Given the description of an element on the screen output the (x, y) to click on. 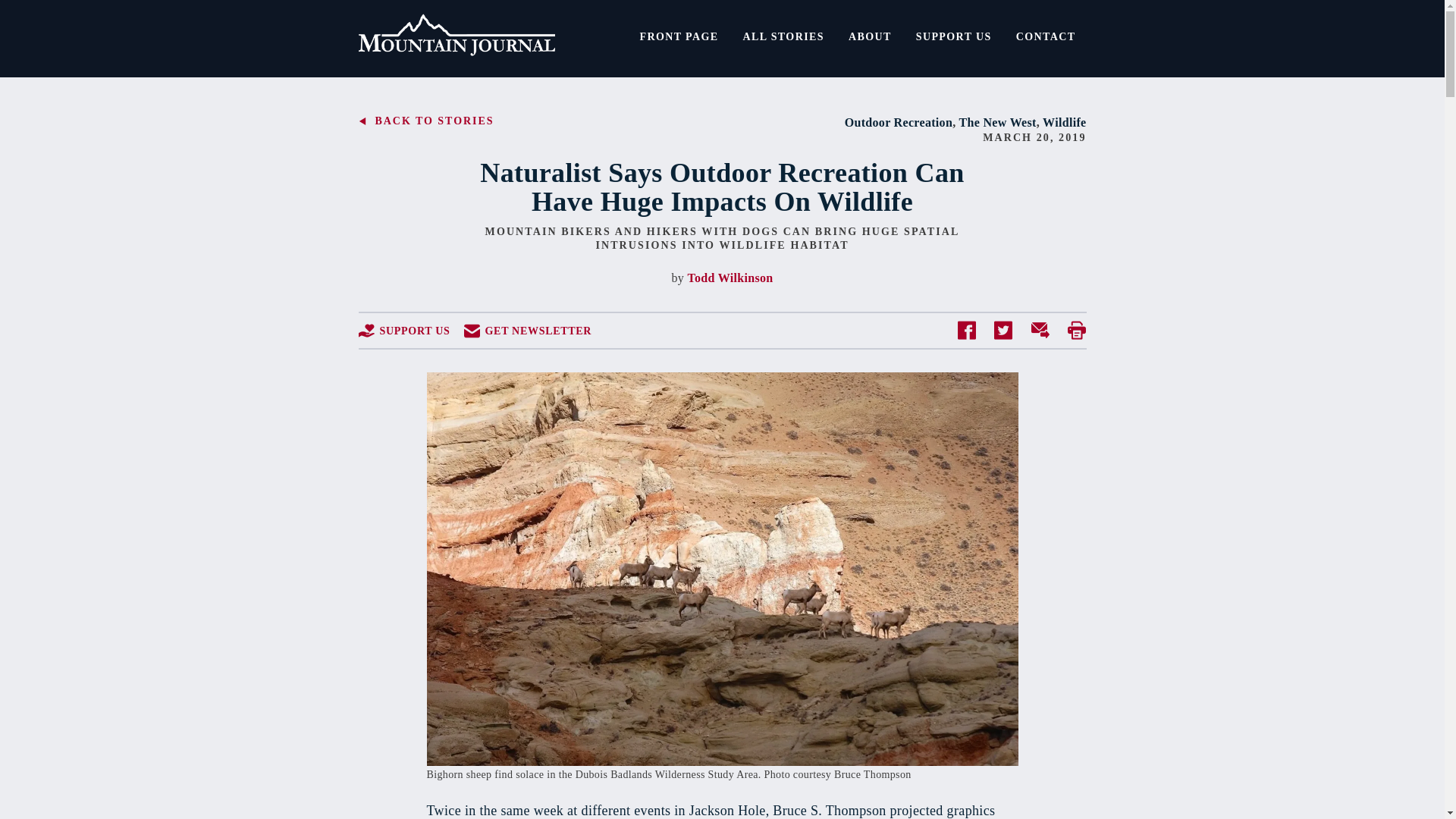
Wildlife (1064, 122)
Outdoor Recreation (898, 122)
GET NEWSLETTER (528, 331)
SUPPORT US (403, 331)
FRONT PAGE (678, 36)
SUPPORT US (954, 36)
CONTACT (1046, 36)
BACK TO STORIES (425, 120)
ALL STORIES (783, 36)
The New West (997, 122)
Todd Wilkinson (730, 277)
ABOUT (870, 36)
